Given the description of an element on the screen output the (x, y) to click on. 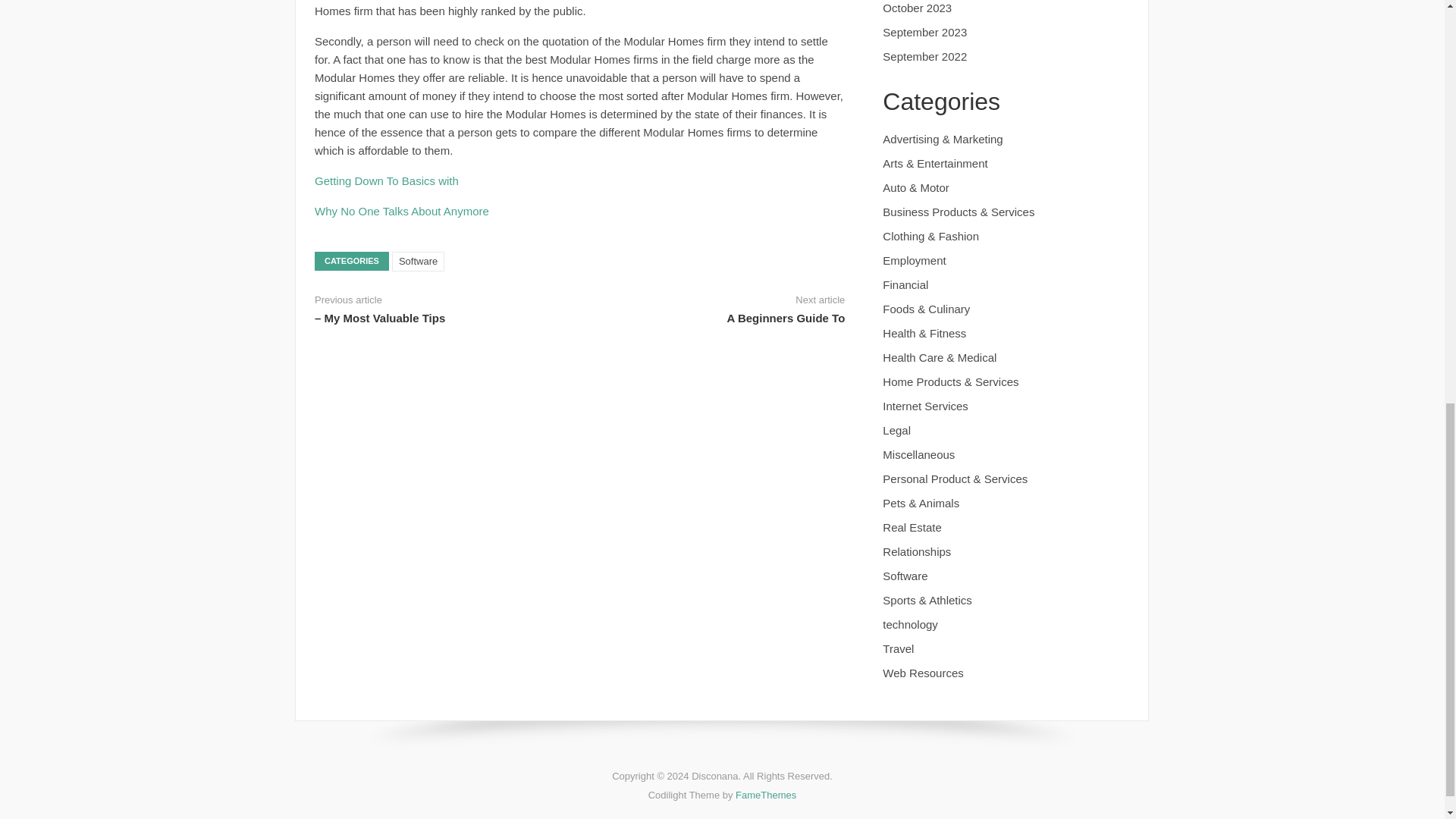
Employment (913, 259)
Software (417, 261)
A Beginners Guide To (785, 318)
September 2023 (924, 31)
Financial (905, 284)
October 2023 (917, 7)
September 2022 (924, 56)
Why No One Talks About Anymore (401, 210)
Getting Down To Basics with (386, 180)
